Given the description of an element on the screen output the (x, y) to click on. 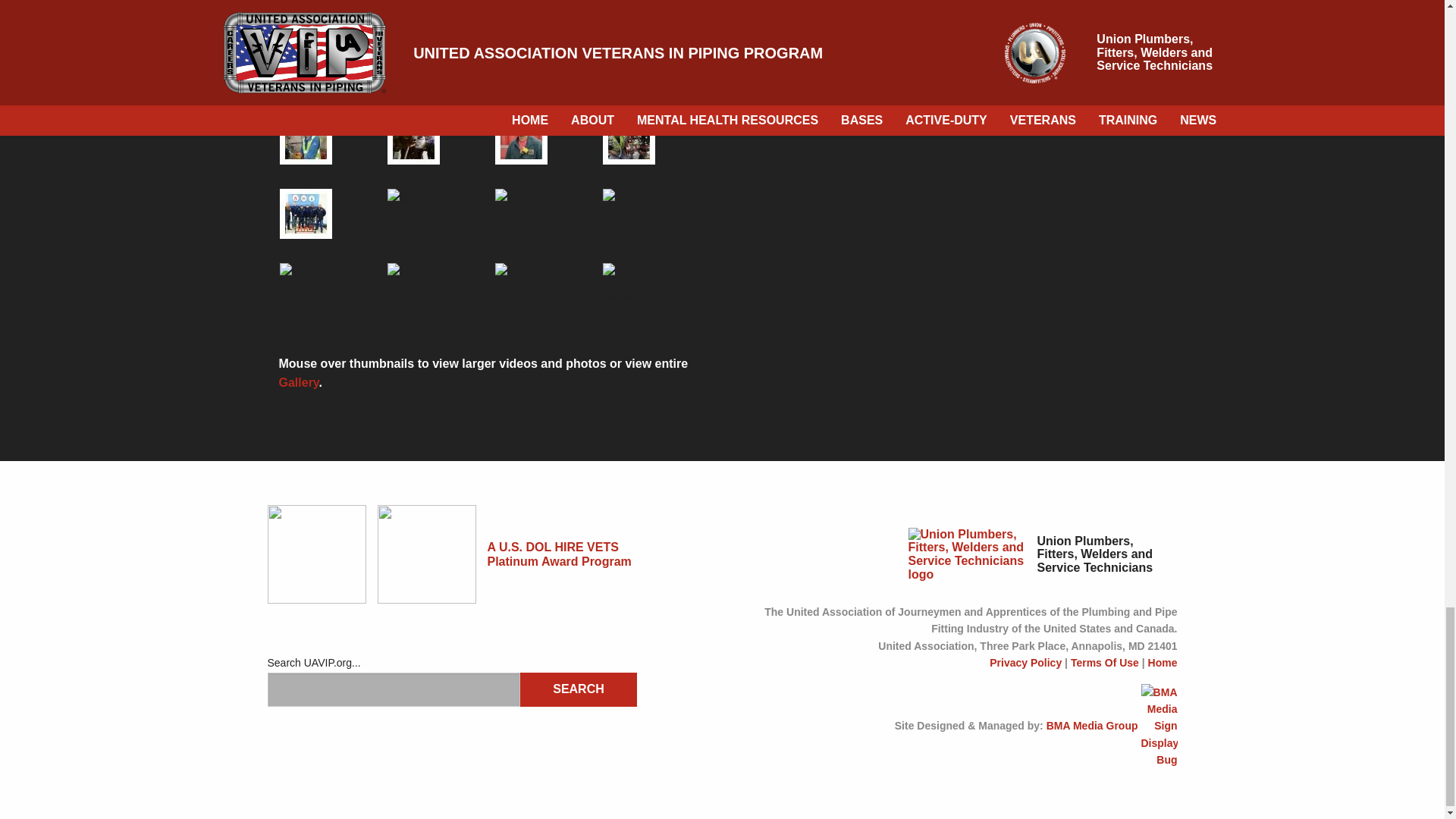
SGT Howard Nash (548, 209)
Camp Pendleton (413, 139)
inaugural Sprinkler (305, 214)
William Davidson (331, 273)
Jerry Heneha (627, 139)
Gail Pilecki (638, 199)
SFC Michael Olsen (441, 209)
VIP Graduate David Adams (305, 139)
Orry graduated (521, 139)
